Given the description of an element on the screen output the (x, y) to click on. 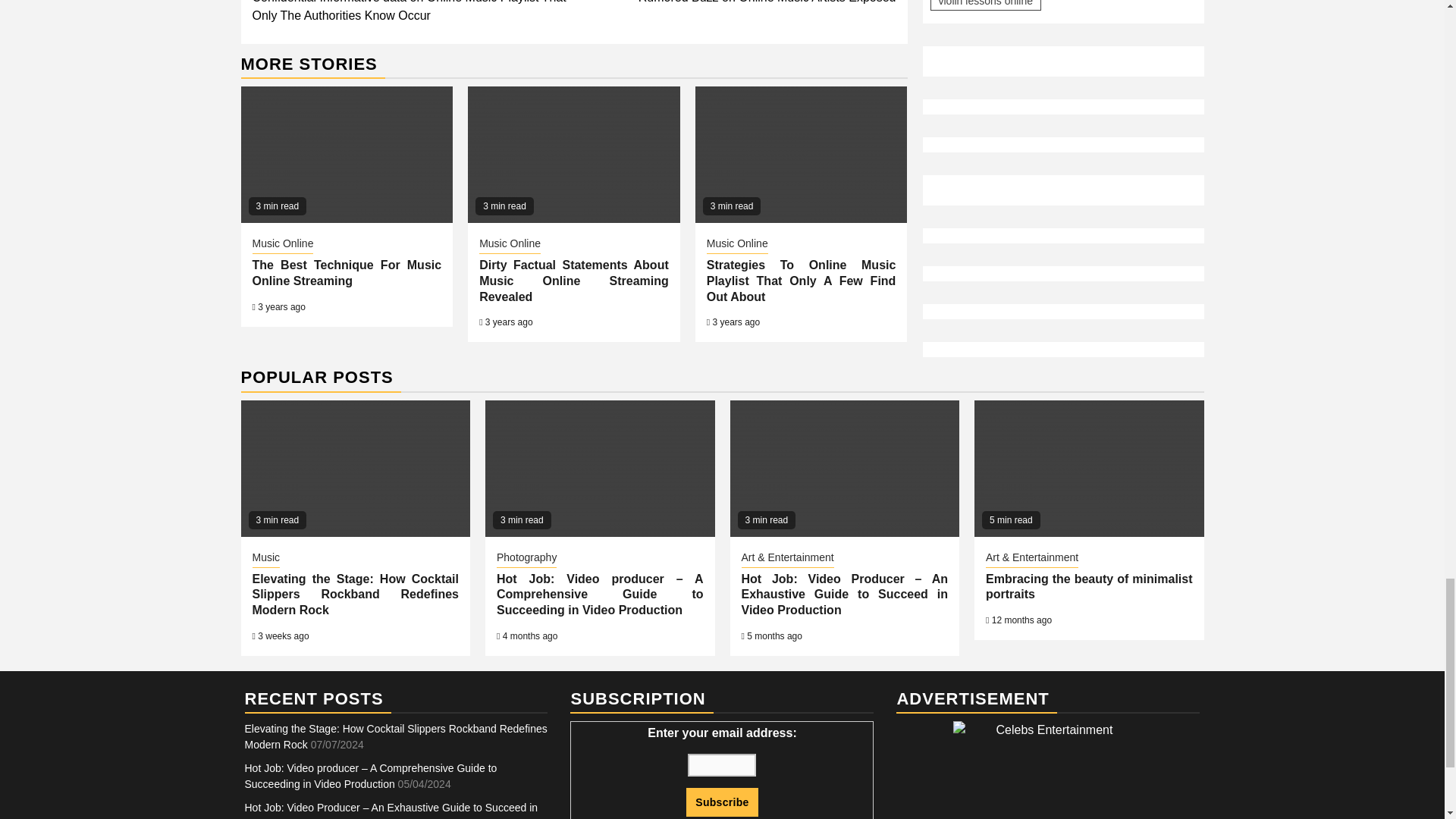
Music Online (509, 244)
Music Online (282, 244)
Music Online (737, 244)
The Best Technique For Music Online Streaming 4 (346, 154)
The Best Technique For Music Online Streaming (734, 3)
Subscribe (346, 272)
